Given the description of an element on the screen output the (x, y) to click on. 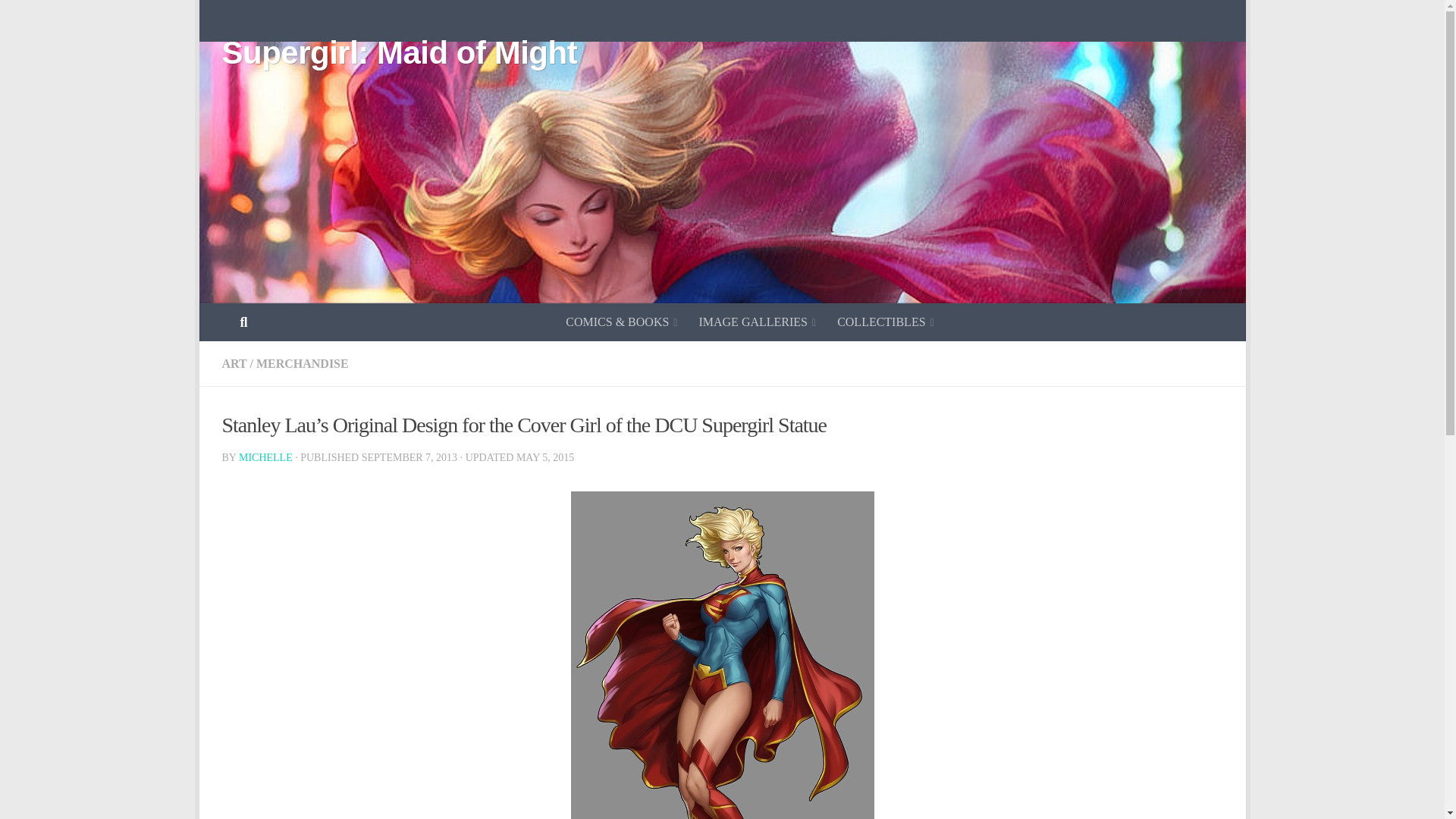
COLLECTIBLES (885, 322)
Skip to content (258, 20)
Posts by Michelle (265, 457)
Supergirl: Maid of Might (398, 53)
IMAGE GALLERIES (757, 322)
